Given the description of an element on the screen output the (x, y) to click on. 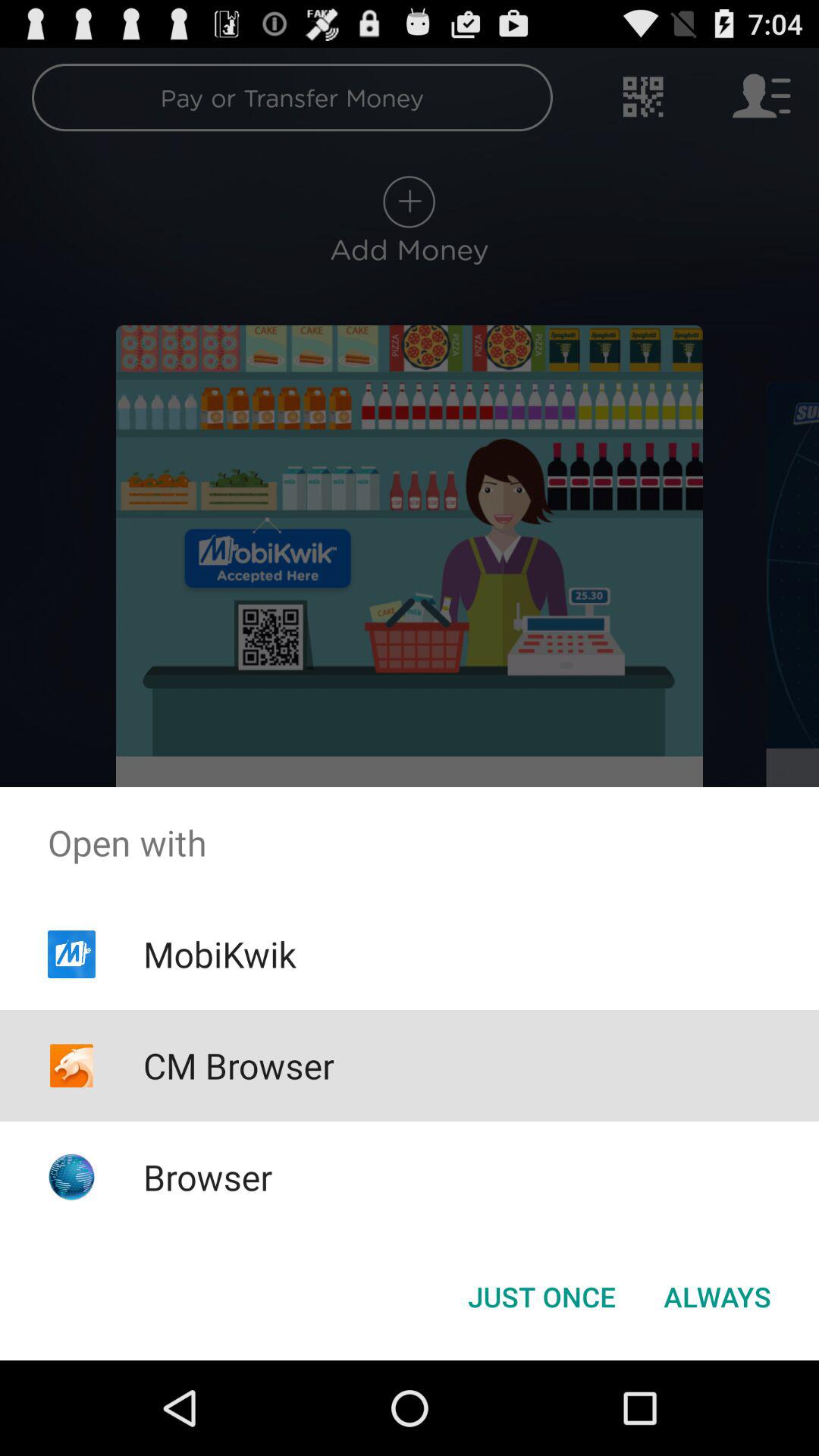
open button next to the always icon (541, 1296)
